Given the description of an element on the screen output the (x, y) to click on. 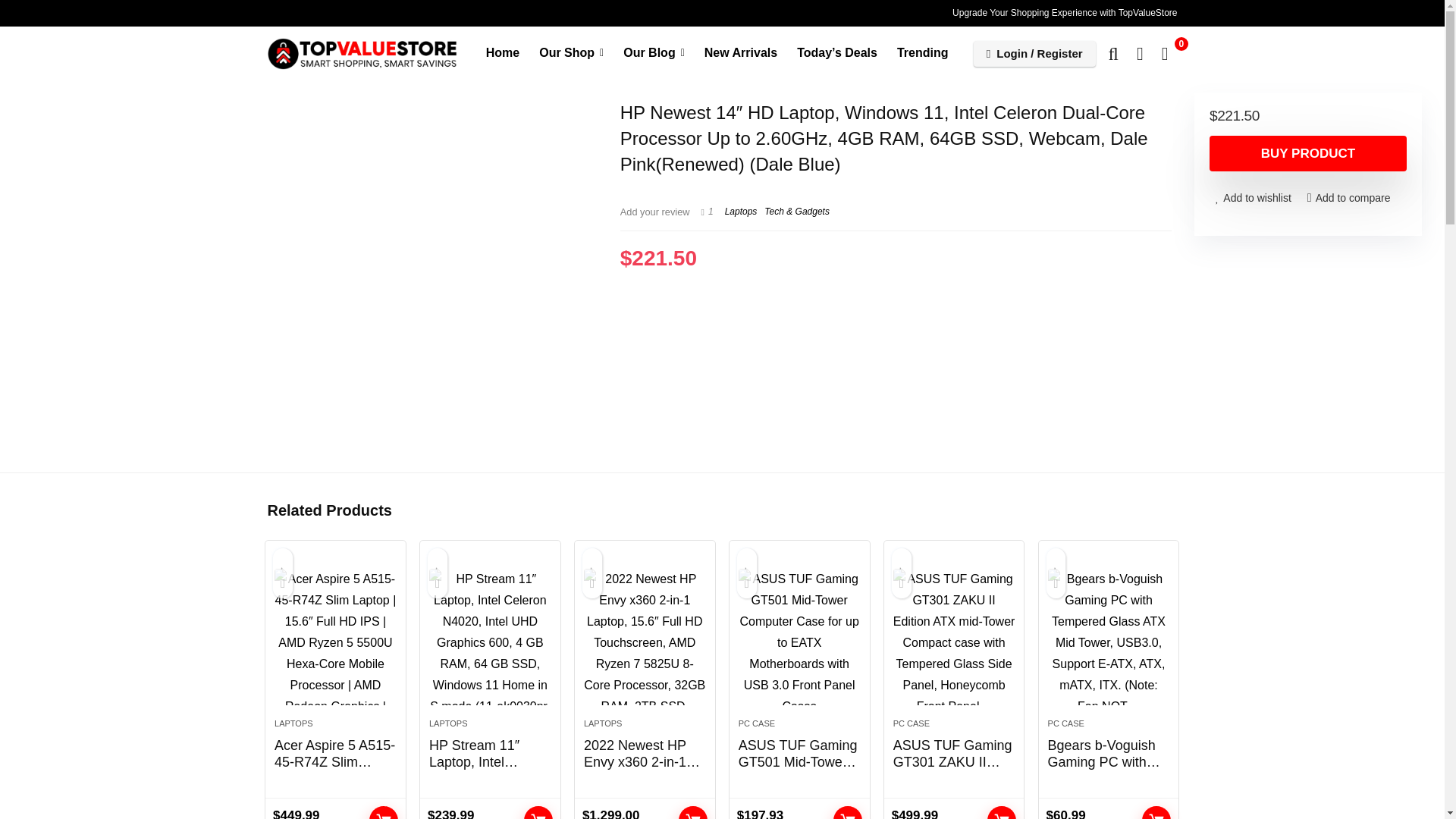
Add your review (655, 211)
Home (502, 53)
View all posts in Laptops (741, 211)
Our Shop (570, 53)
